Given the description of an element on the screen output the (x, y) to click on. 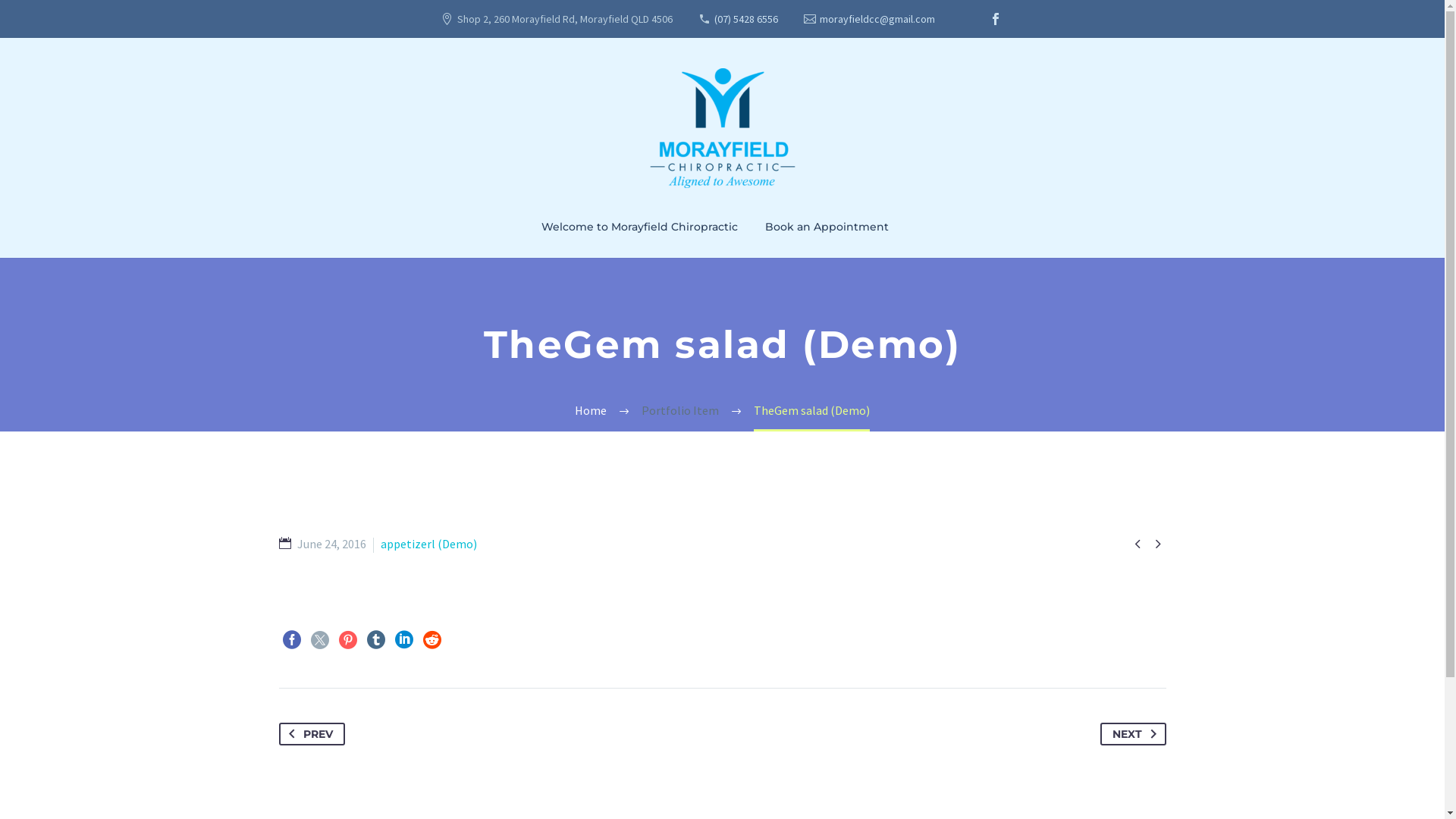
LinkedIn Element type: hover (403, 639)
Pinterest Element type: hover (347, 639)
Welcome to Morayfield Chiropractic Element type: text (639, 226)
Twitter Element type: hover (319, 639)
morayfieldcc@gmail.com Element type: text (877, 18)
Facebook Element type: hover (995, 18)
Facebook Element type: hover (291, 639)
Tumblr Element type: hover (376, 639)
NEXT Element type: text (1132, 733)
Home Element type: text (590, 409)
(07) 5428 6556 Element type: text (746, 18)
Reddit Element type: hover (432, 639)
Book an Appointment Element type: text (826, 226)
PREV Element type: text (312, 733)
